Given the description of an element on the screen output the (x, y) to click on. 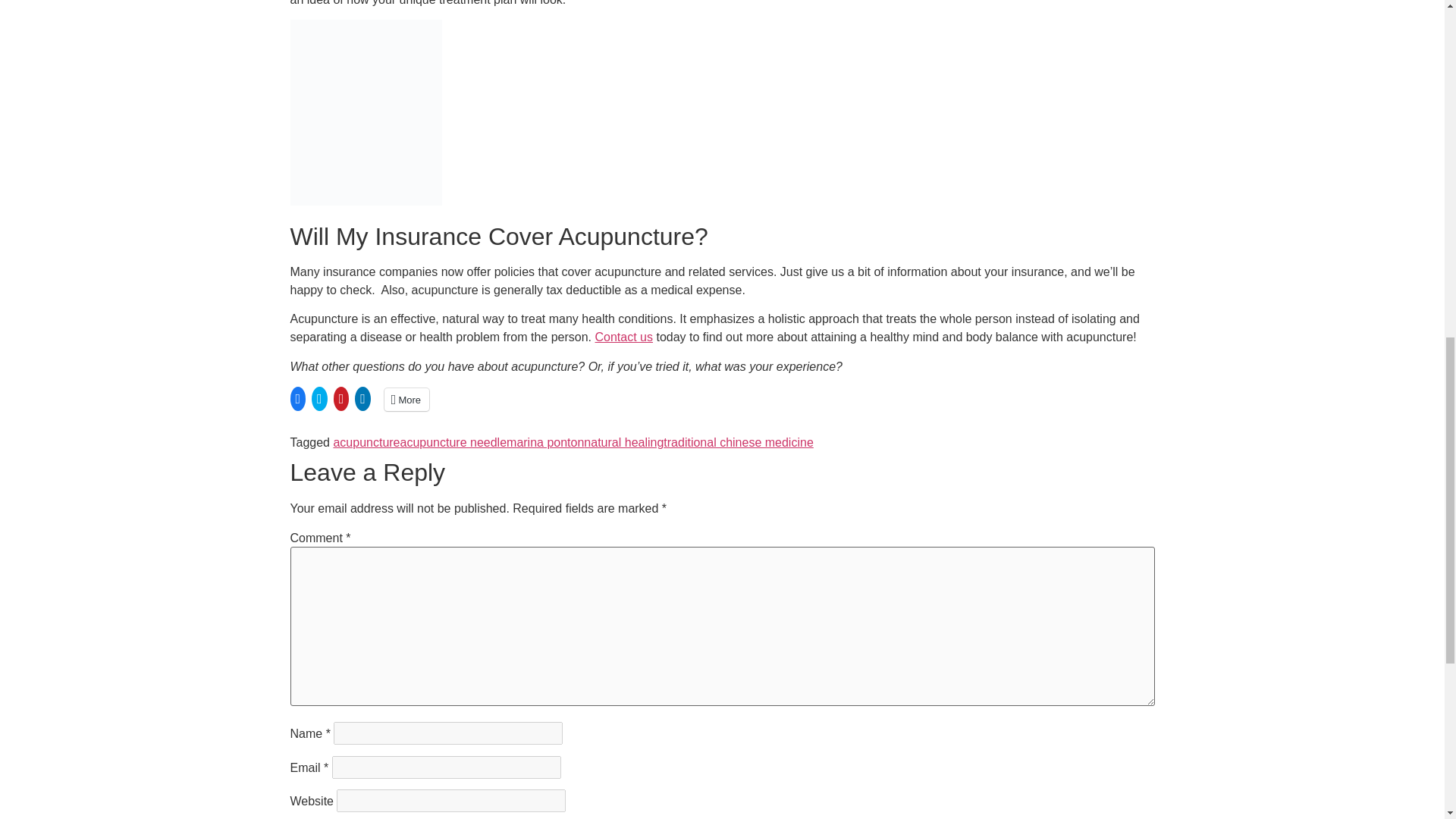
contact form (623, 336)
